Given the description of an element on the screen output the (x, y) to click on. 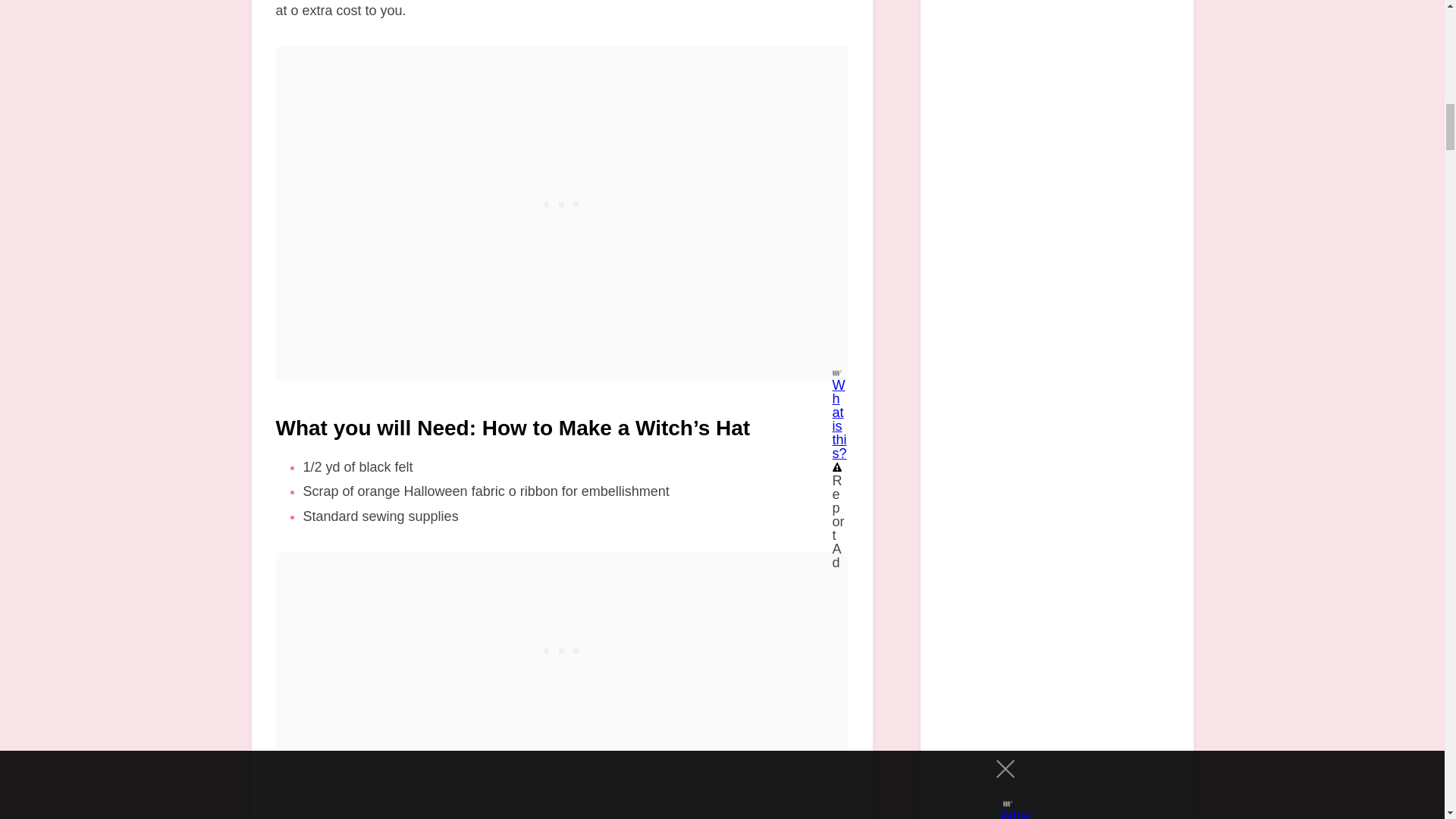
3rd party ad content (561, 141)
3rd party ad content (561, 647)
